Given the description of an element on the screen output the (x, y) to click on. 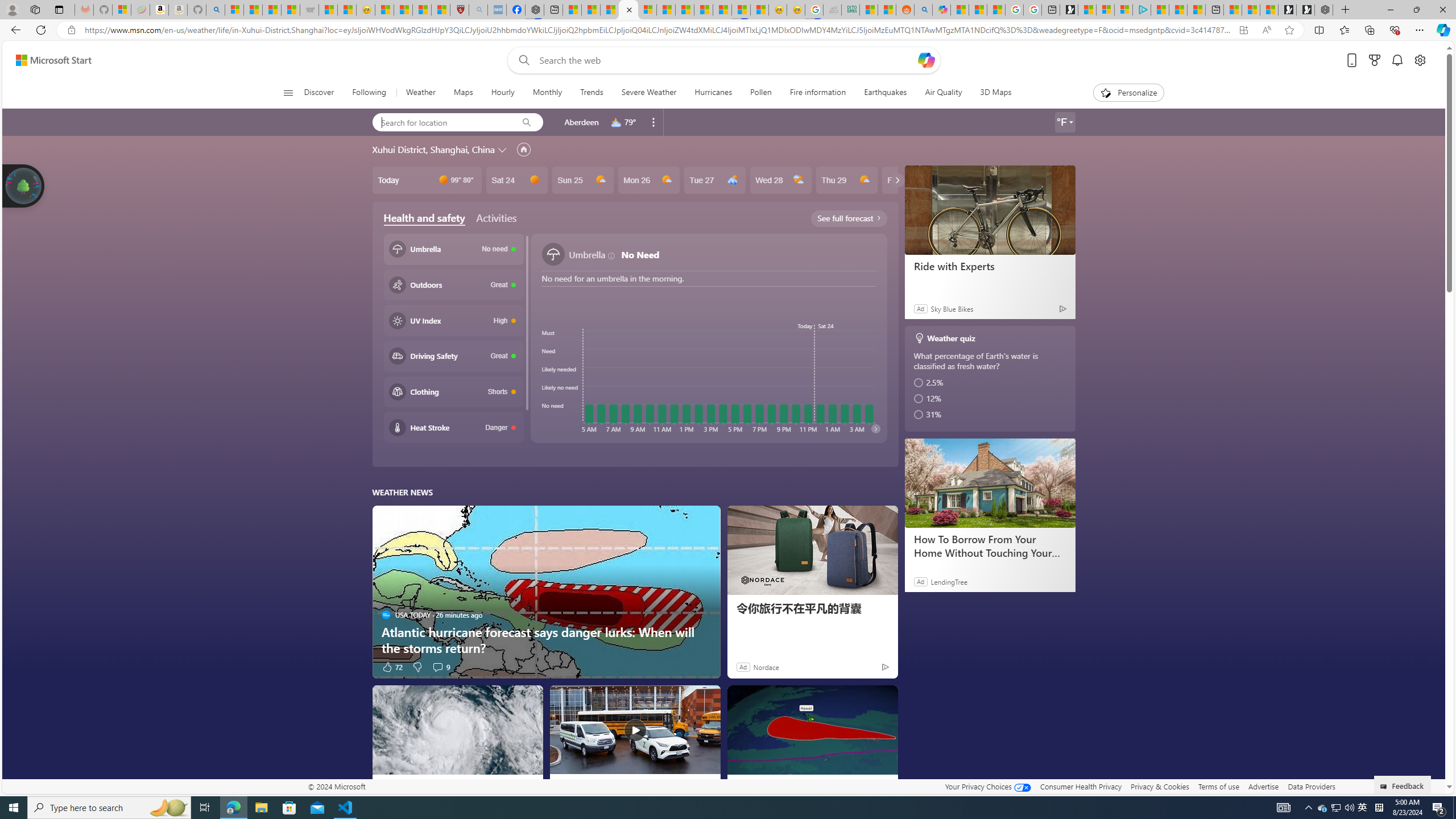
Class: lifeBarCoverdLink-DS-EntryPoint1-1 (634, 334)
Thu 29 (846, 180)
Xuhui District, Shanghai, China (433, 149)
Data Providers (1311, 786)
See full forecast (848, 217)
View comments 9 Comment (437, 666)
